Given the description of an element on the screen output the (x, y) to click on. 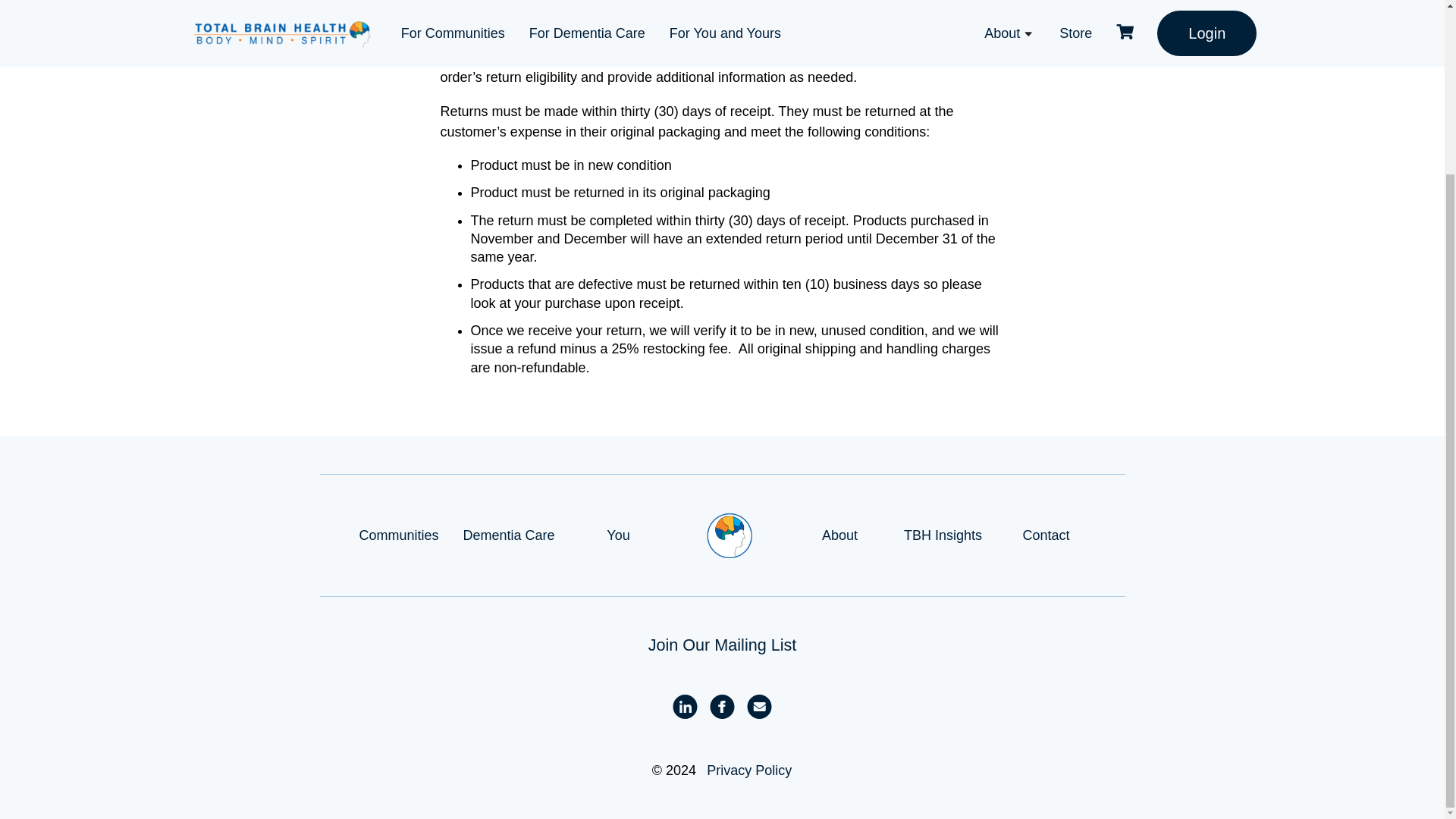
About (840, 535)
Privacy Policy (749, 770)
Communities (398, 535)
Dementia Care (507, 535)
Join Our Mailing List (721, 644)
TBH Insights (942, 535)
Contact (1046, 535)
You (617, 535)
Home (729, 534)
